Given the description of an element on the screen output the (x, y) to click on. 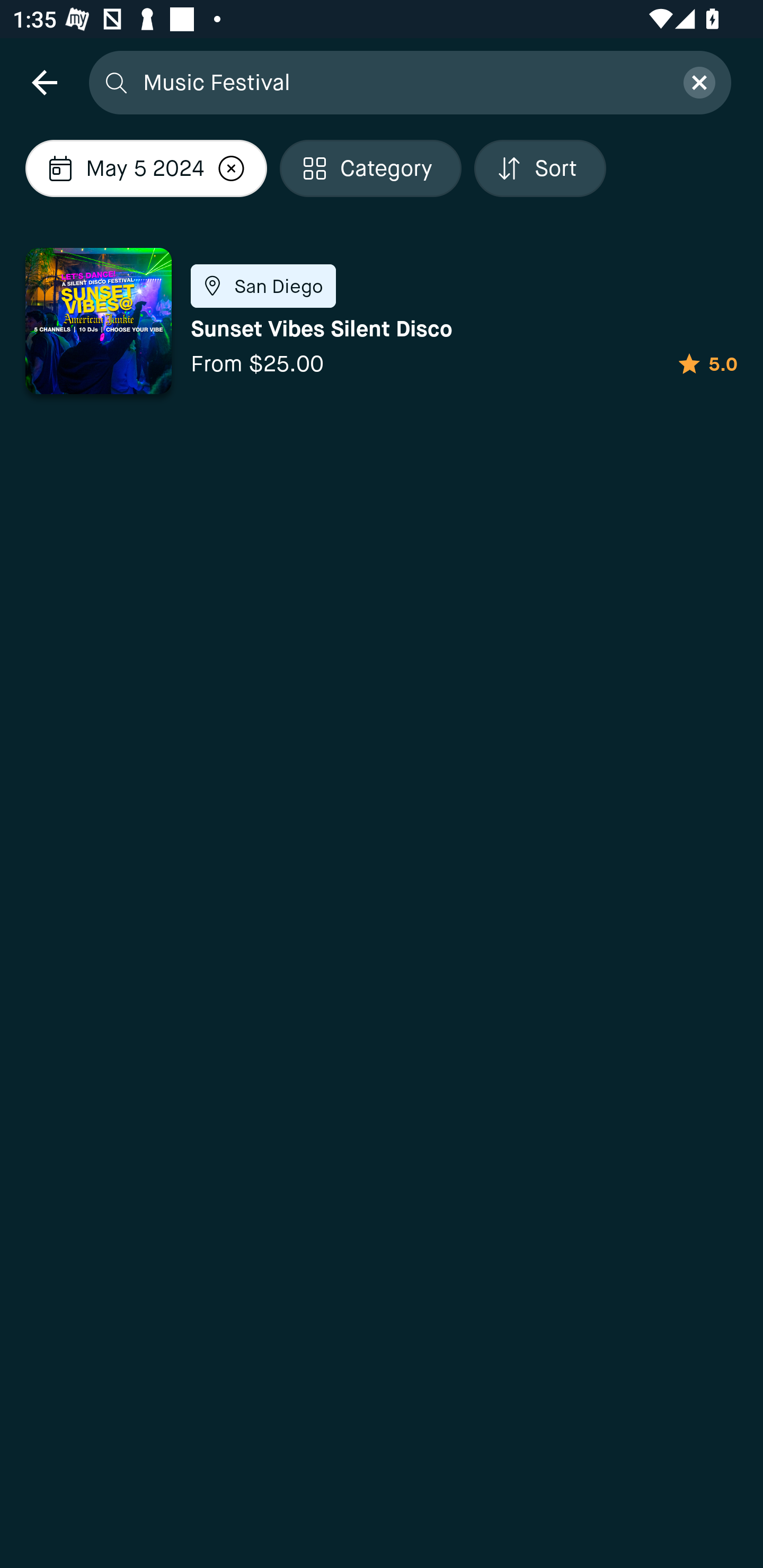
navigation icon (44, 81)
Music Festival (402, 81)
Localized description (231, 168)
Localized description Category (370, 168)
Localized description Sort (539, 168)
